Given the description of an element on the screen output the (x, y) to click on. 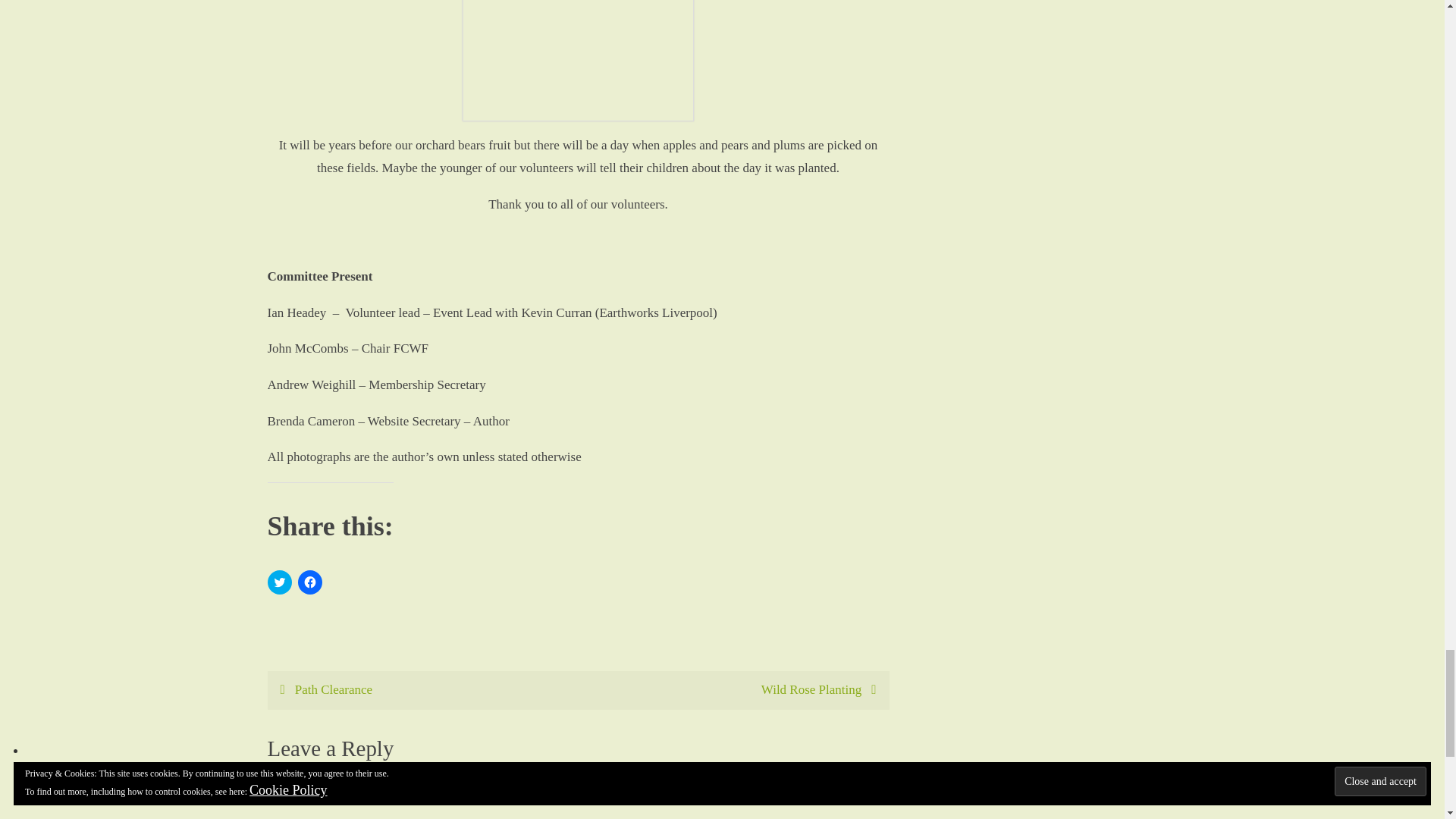
Click to share on Facebook (309, 582)
Click to share on Twitter (278, 582)
